Given the description of an element on the screen output the (x, y) to click on. 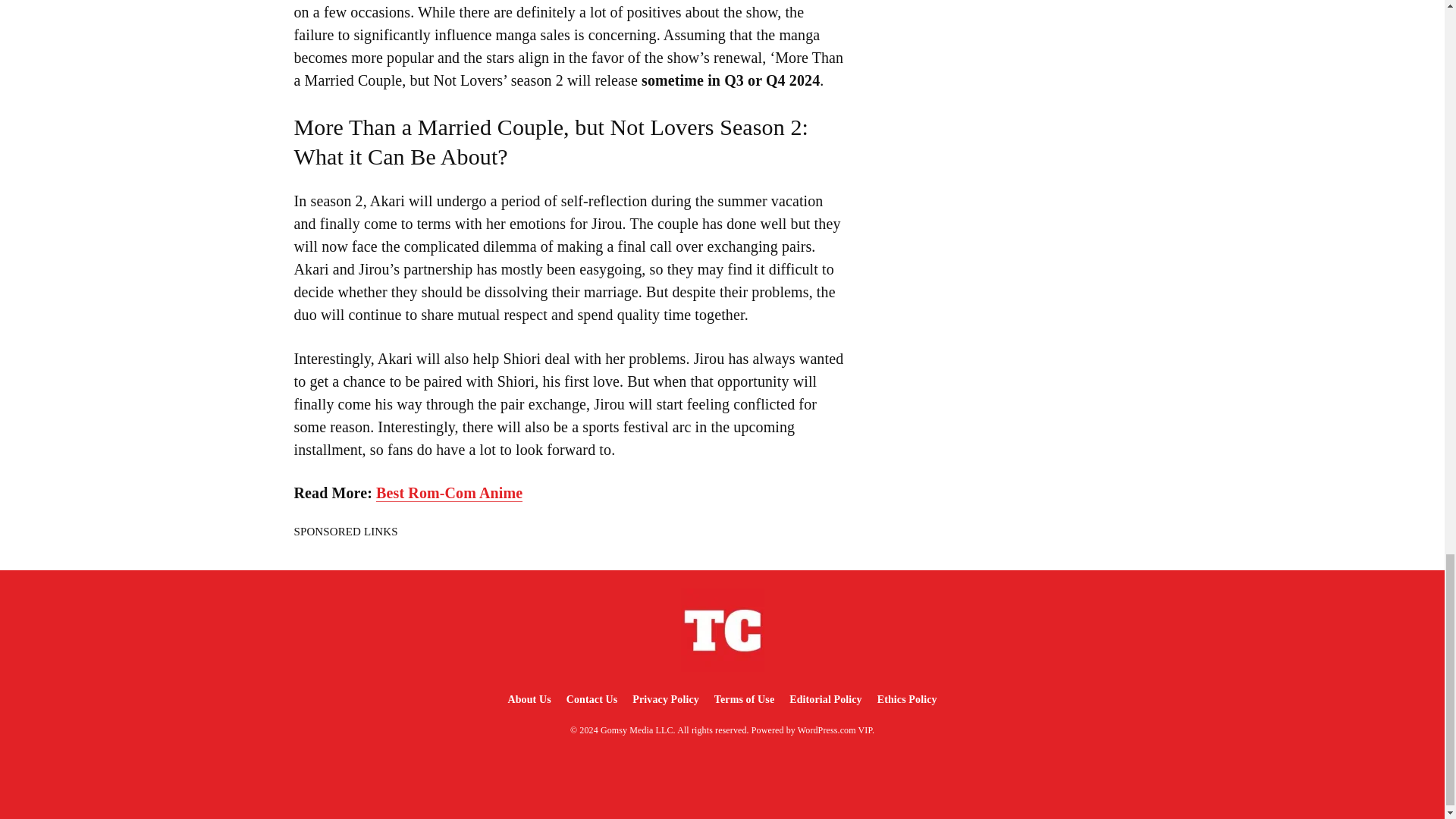
Editorial Policy (825, 699)
Terms of Use (743, 699)
About Us (528, 699)
Ethics Policy (906, 699)
Privacy Policy (665, 699)
Contact Us (592, 699)
Best Rom-Com Anime (448, 493)
WordPress.com VIP (834, 729)
